Given the description of an element on the screen output the (x, y) to click on. 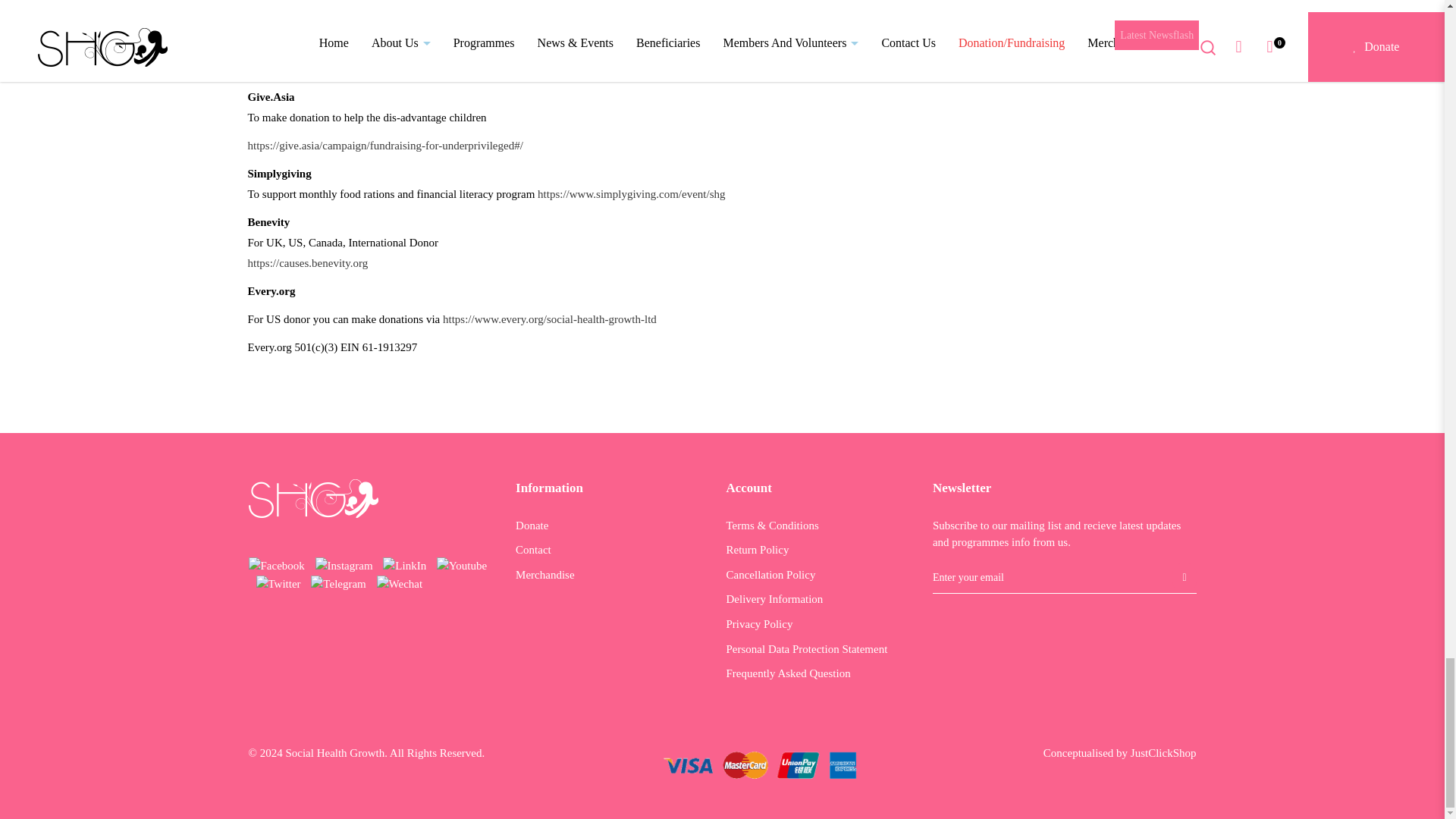
Telegram (338, 583)
Twitter (278, 583)
Facebook (276, 565)
Youtube (461, 565)
Instagram (343, 565)
Telegram (338, 583)
Youtube (461, 565)
Twitter (278, 583)
Facebook (276, 565)
Wechat  (400, 583)
LinkIn (404, 565)
LinkIn (404, 565)
Instagram (343, 565)
Wechat  (400, 583)
